Given the description of an element on the screen output the (x, y) to click on. 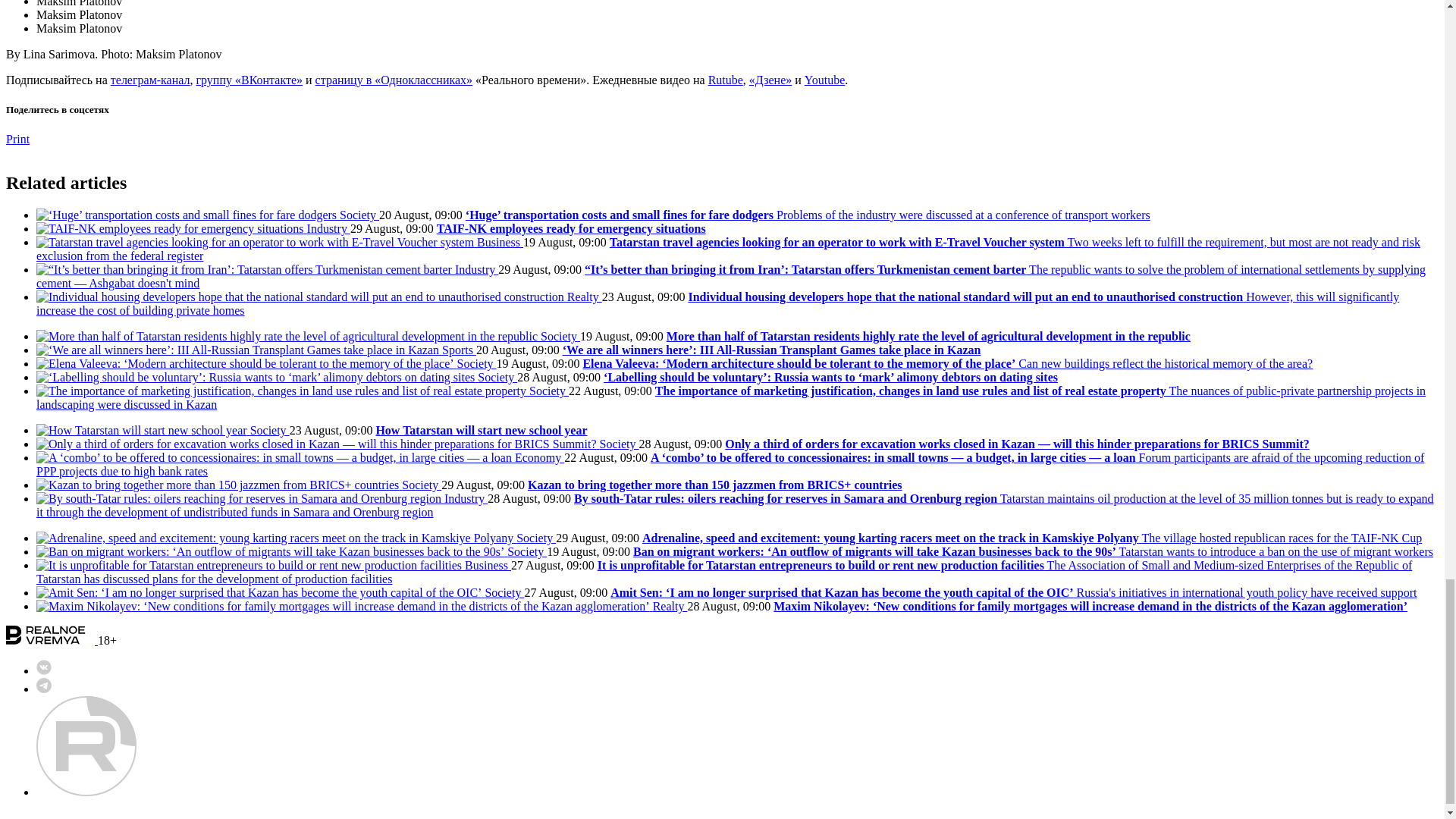
Youtube (825, 79)
Society (496, 377)
Society (358, 214)
TAIF-NK employees ready for emergency situations (571, 228)
Print (17, 138)
Society (476, 363)
Industry (328, 228)
